Given the description of an element on the screen output the (x, y) to click on. 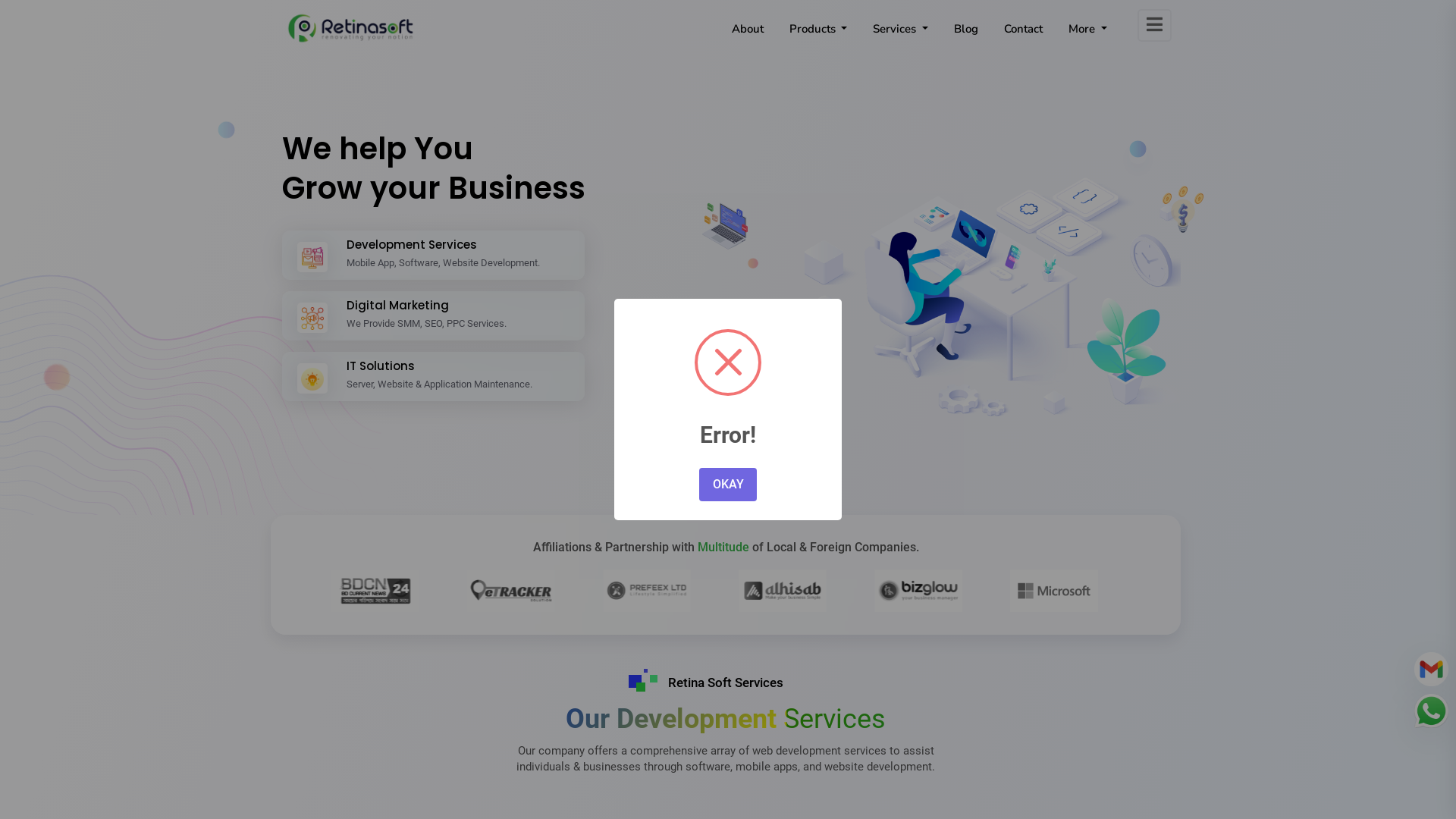
Notice Element type: text (996, 75)
Web Development Element type: text (977, 75)
Digital Marketing
We Provide SMM, SEO, PPC Services. Element type: text (498, 315)
Surveil HR - Payroll Element type: text (1051, 85)
Surveil Sales Element type: text (849, 85)
More Element type: text (1087, 37)
Blog Element type: text (965, 37)
View All Products Element type: text (1051, 93)
Contact Element type: text (1023, 37)
IT Solutions
Server, Website & Application Maintenance. Element type: text (498, 376)
OKAY Element type: text (727, 484)
Products Element type: text (818, 37)
About Element type: text (747, 37)
Alhisab Element type: text (647, 85)
Services Element type: text (900, 37)
Multivendor E-Commerce Element type: text (647, 94)
